Given the description of an element on the screen output the (x, y) to click on. 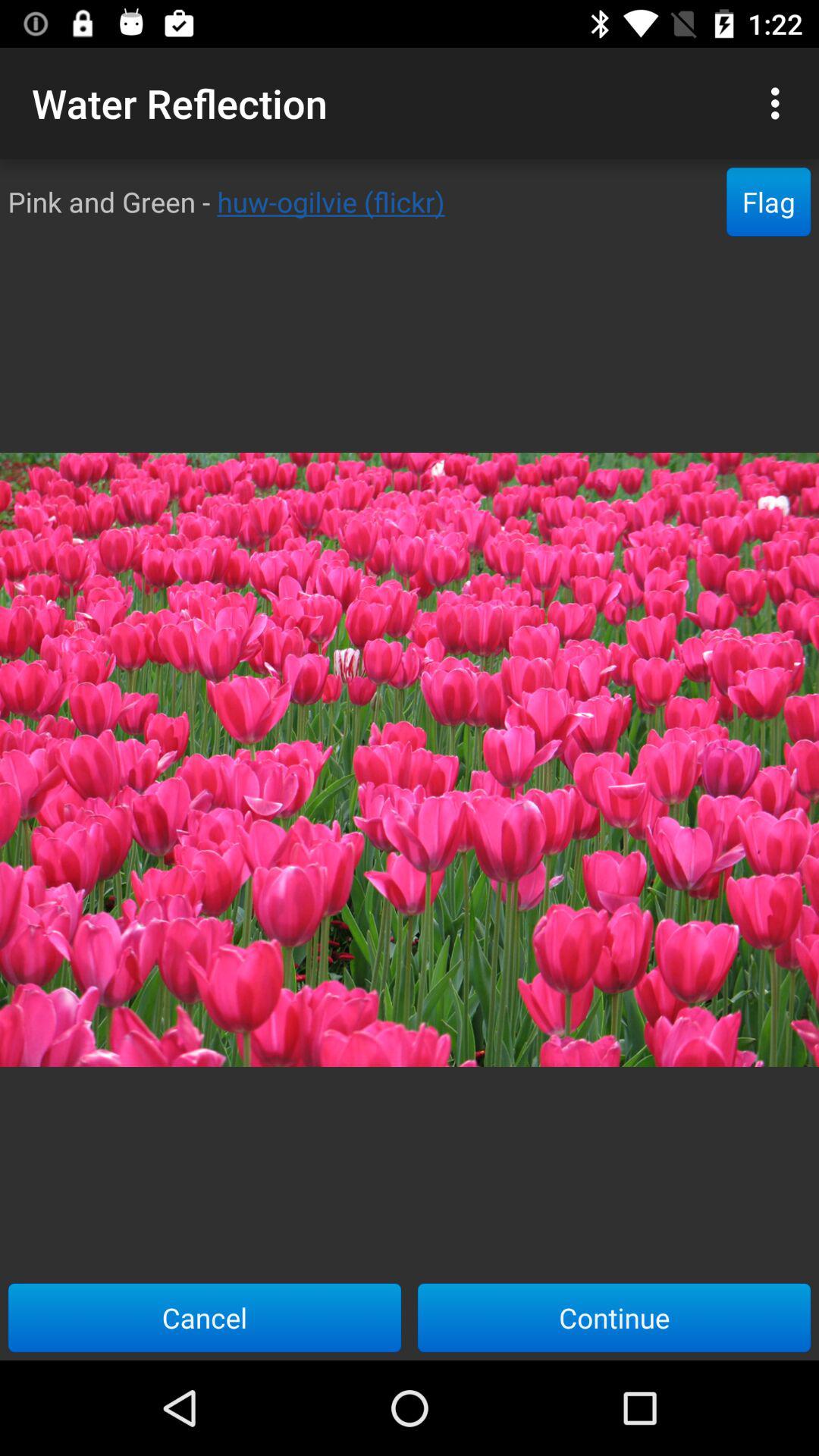
flip until the cancel icon (204, 1317)
